Given the description of an element on the screen output the (x, y) to click on. 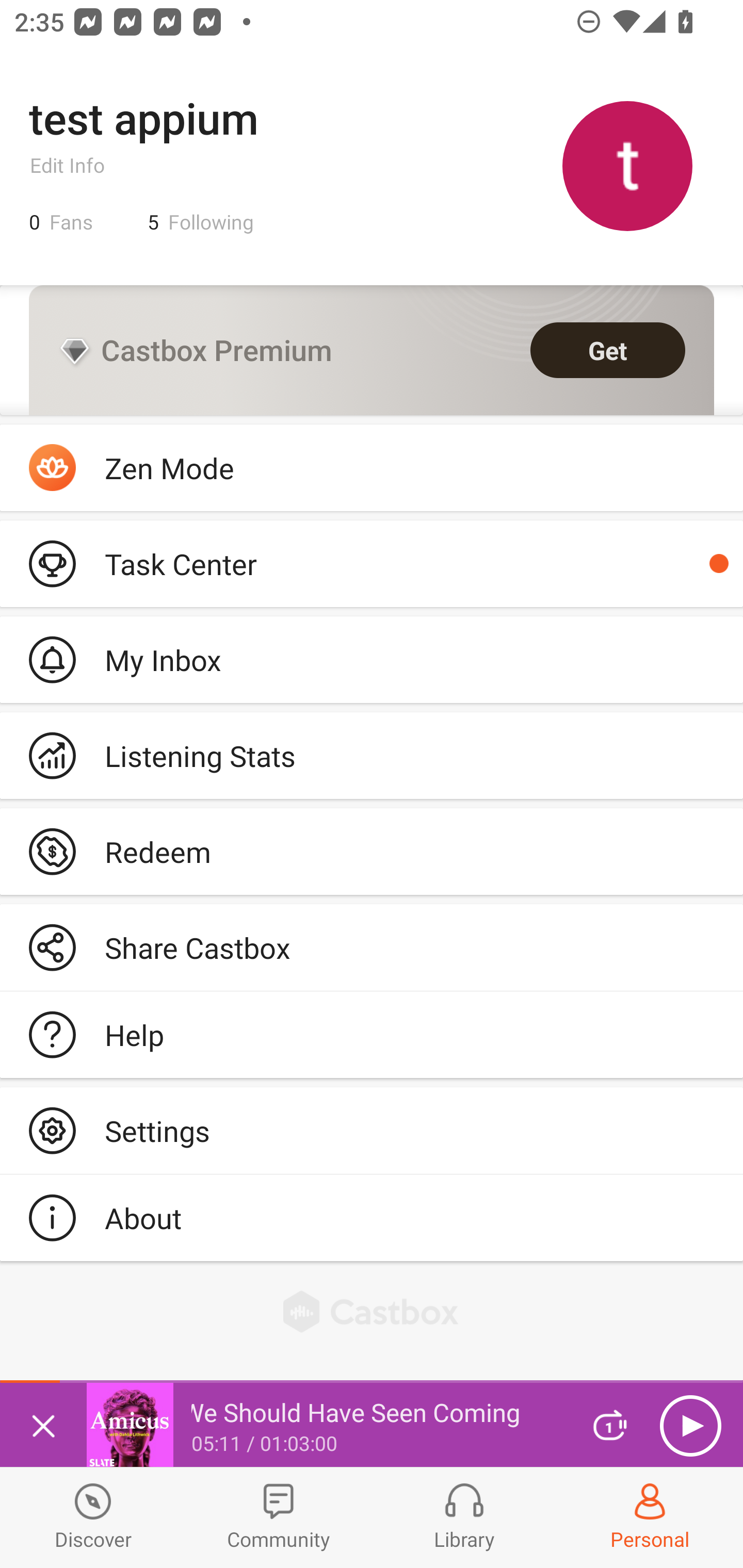
test appium Edit Info 0 Fans 5 Following (371, 165)
0 Fans (60, 221)
5 Following (200, 221)
Castbox Premium Get (371, 350)
Get (607, 350)
Zen Mode (371, 467)
Podcaster  Task Center (371, 563)
 My Inbox (371, 659)
 Listening Stats (371, 755)
 Redeem (371, 851)
 Share Castbox (371, 947)
 Help (371, 1034)
 Settings (371, 1130)
 About (371, 1217)
Play (690, 1425)
Discover (92, 1517)
Community (278, 1517)
Library (464, 1517)
Profiles and Settings Personal (650, 1517)
